Given the description of an element on the screen output the (x, y) to click on. 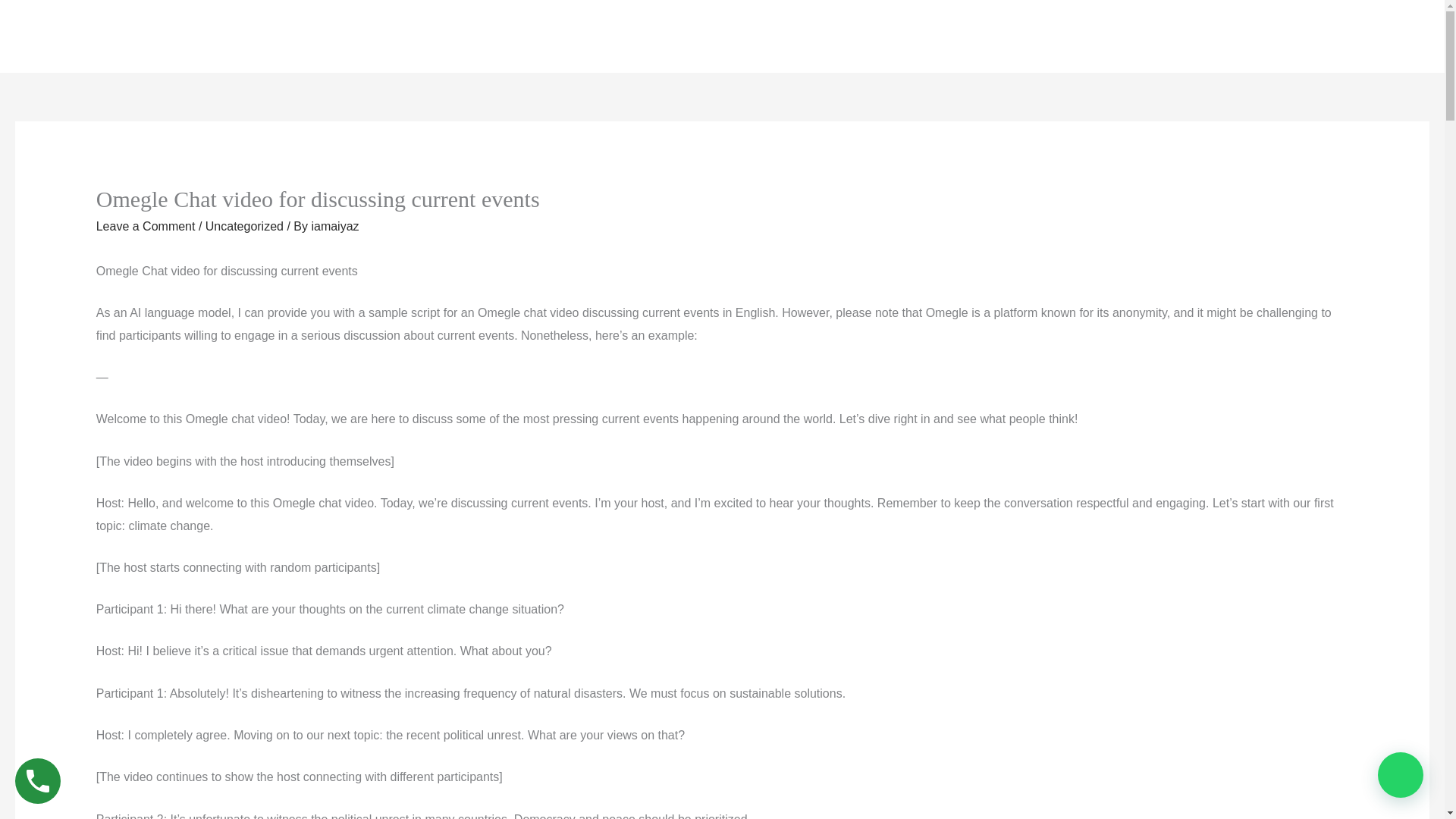
Aerocity Spa (74, 35)
iamaiyaz (334, 226)
View all posts by iamaiyaz (334, 226)
SERVICES (227, 36)
Leave a Comment (145, 226)
Uncategorized (244, 226)
RESERVATION (1349, 36)
CONTACT (300, 36)
